Given the description of an element on the screen output the (x, y) to click on. 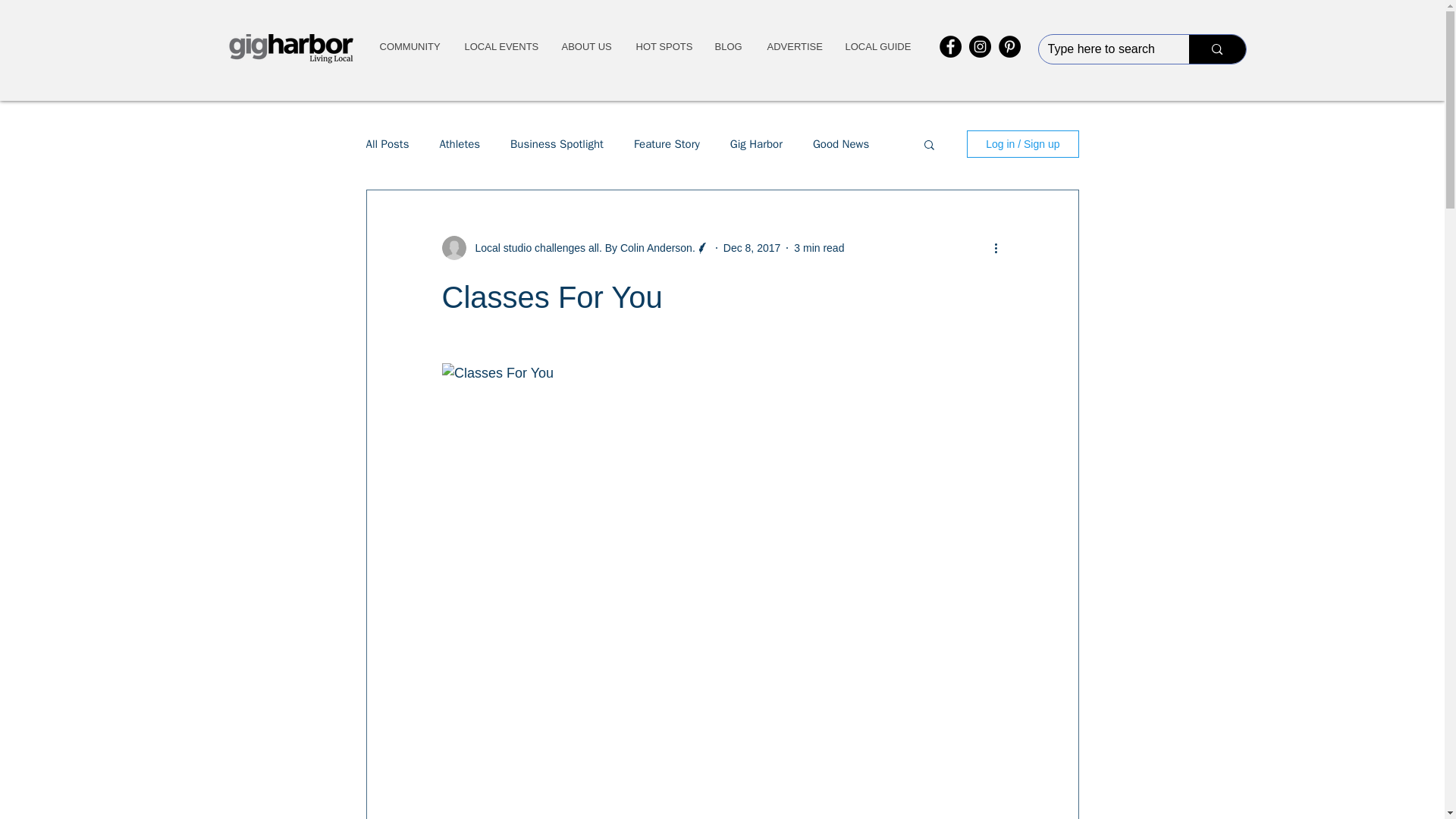
LOCAL GUIDE (877, 46)
BLOG (727, 46)
All Posts (387, 143)
HOT SPOTS (662, 46)
Dec 8, 2017 (751, 246)
Athletes (459, 143)
ABOUT US (585, 46)
Good News (840, 143)
Gig Harbor (756, 143)
Business Spotlight (557, 143)
ADVERTISE (793, 46)
LOCAL EVENTS (499, 46)
Local studio challenges all. By Colin Anderson. (579, 247)
3 min read (818, 246)
Feature Story (666, 143)
